Given the description of an element on the screen output the (x, y) to click on. 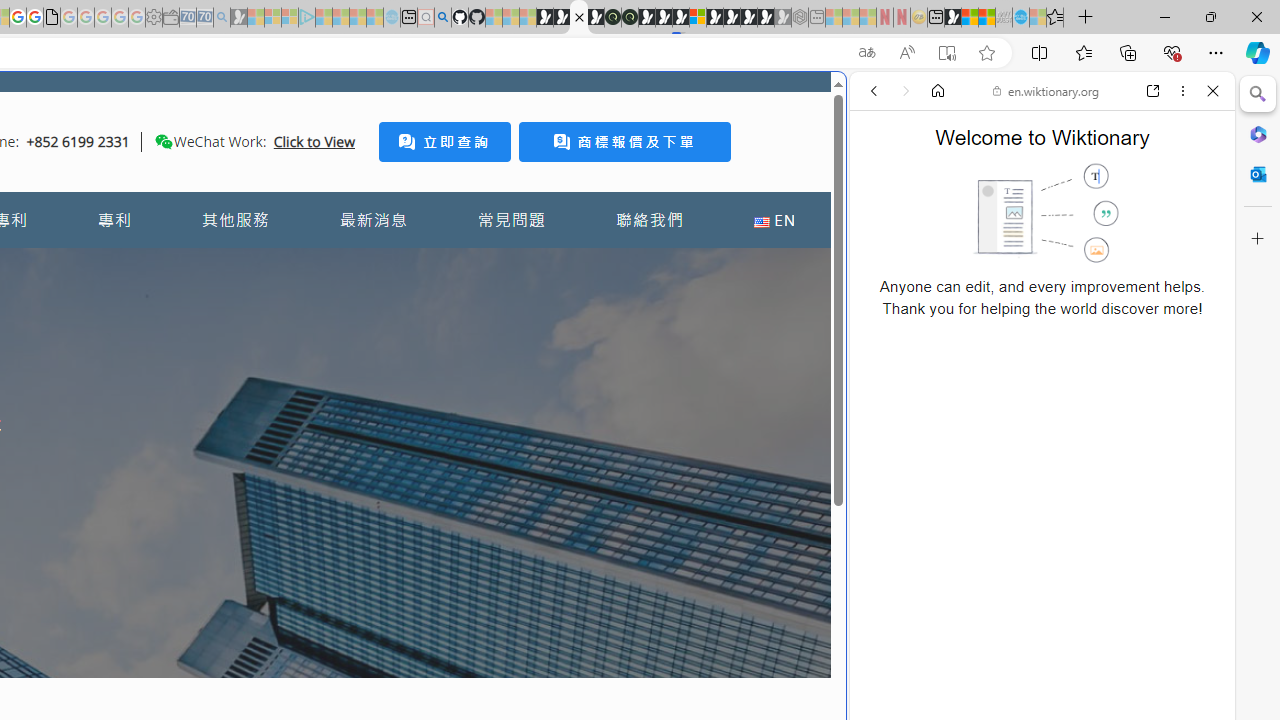
en.wiktionary.org (1046, 90)
Play Cave FRVR in your browser | Games from Microsoft Start (343, 426)
World - MSN (969, 17)
EN (774, 220)
Play Cave FRVR in your browser | Games from Microsoft Start (663, 17)
Wallet - Sleeping (170, 17)
